Given the description of an element on the screen output the (x, y) to click on. 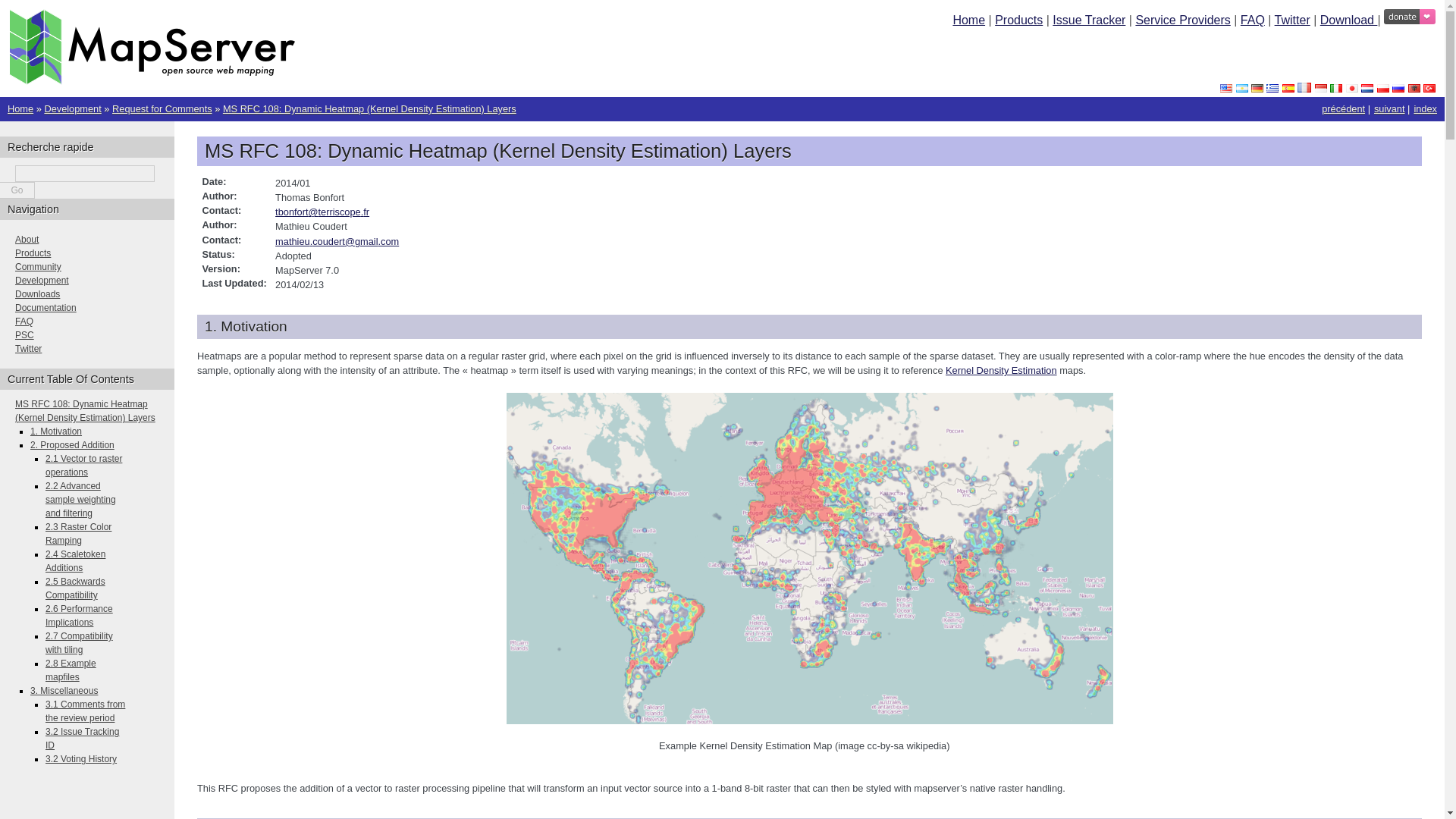
Service Providers (1182, 19)
Kernel Density Estimation (1000, 369)
Development (71, 108)
Home (20, 108)
es (1288, 88)
en (1225, 88)
Home (968, 19)
Issue Tracker (1088, 19)
Products (1018, 19)
Twitter (1292, 19)
Professional Service Providers (1182, 19)
Twitter (1292, 19)
suivant (1389, 108)
Home (151, 80)
fr (1304, 87)
